Given the description of an element on the screen output the (x, y) to click on. 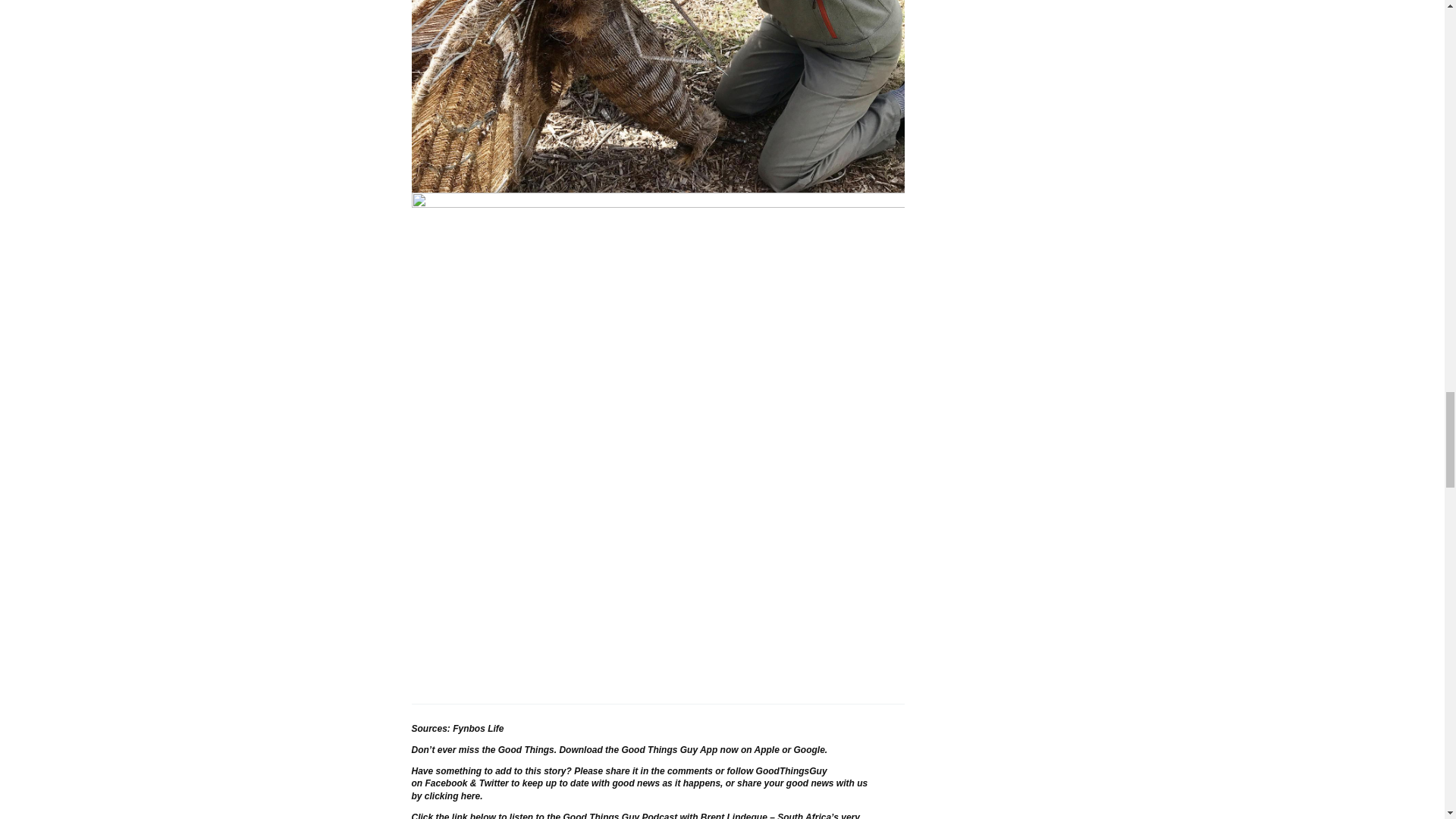
Apple (766, 749)
Google (809, 749)
clicking here (452, 796)
Facebook (446, 783)
Twitter (493, 783)
Fynbos Life (477, 728)
